Given the description of an element on the screen output the (x, y) to click on. 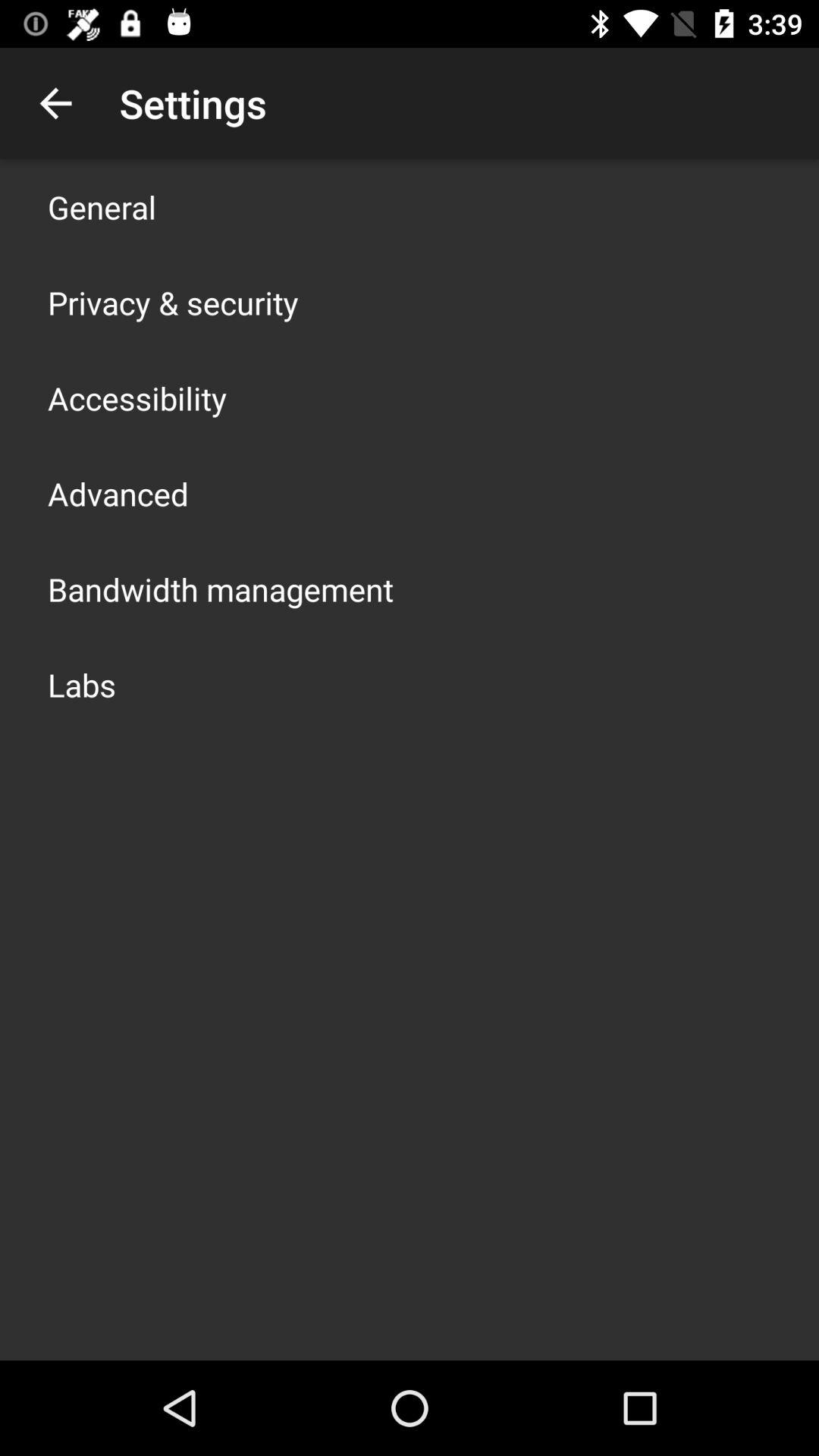
open bandwidth management app (220, 588)
